Given the description of an element on the screen output the (x, y) to click on. 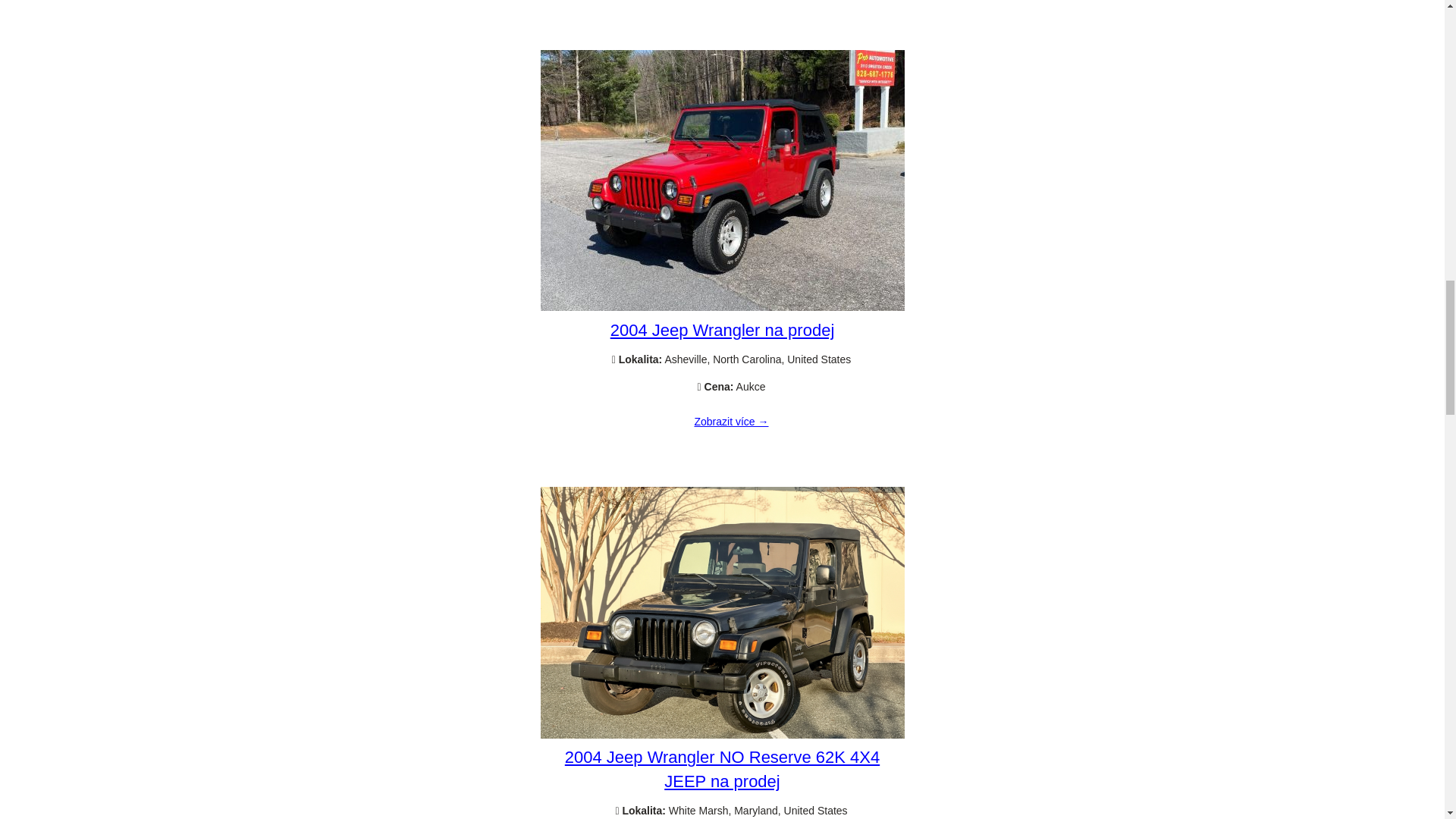
2004 Jeep Wrangler na prodej (722, 306)
2004 Jeep Wrangler NO Reserve 62K 4X4 JEEP na prodej (722, 734)
2004 Jeep Wrangler na prodej (731, 421)
2004 Jeep Wrangler NO Reserve 62K 4X4 JEEP na prodej (721, 768)
2004 Jeep Wrangler na prodej (722, 330)
